Given the description of an element on the screen output the (x, y) to click on. 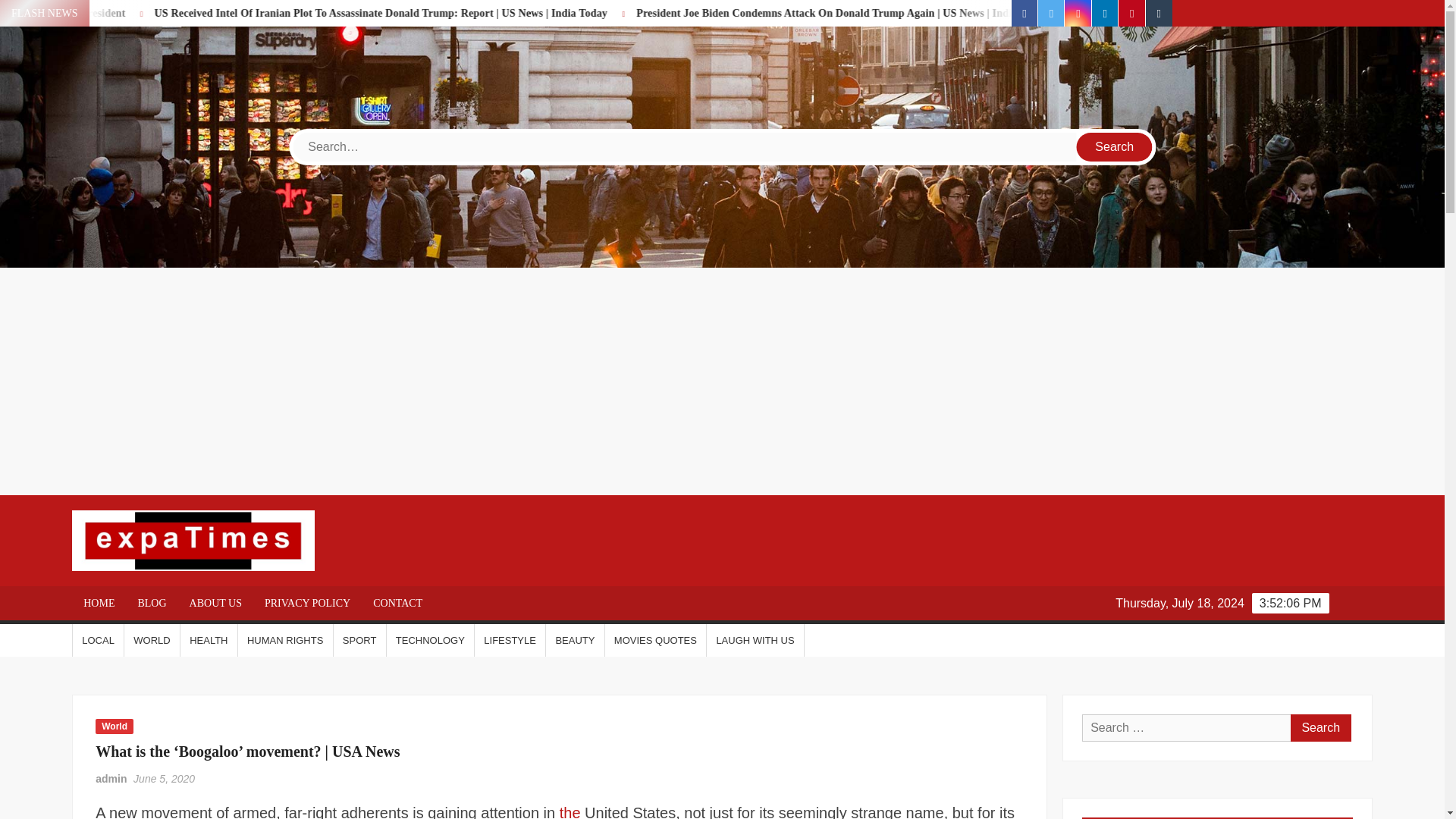
Search (1320, 728)
Search (1115, 146)
Search (1320, 728)
Search (1115, 146)
